Given the description of an element on the screen output the (x, y) to click on. 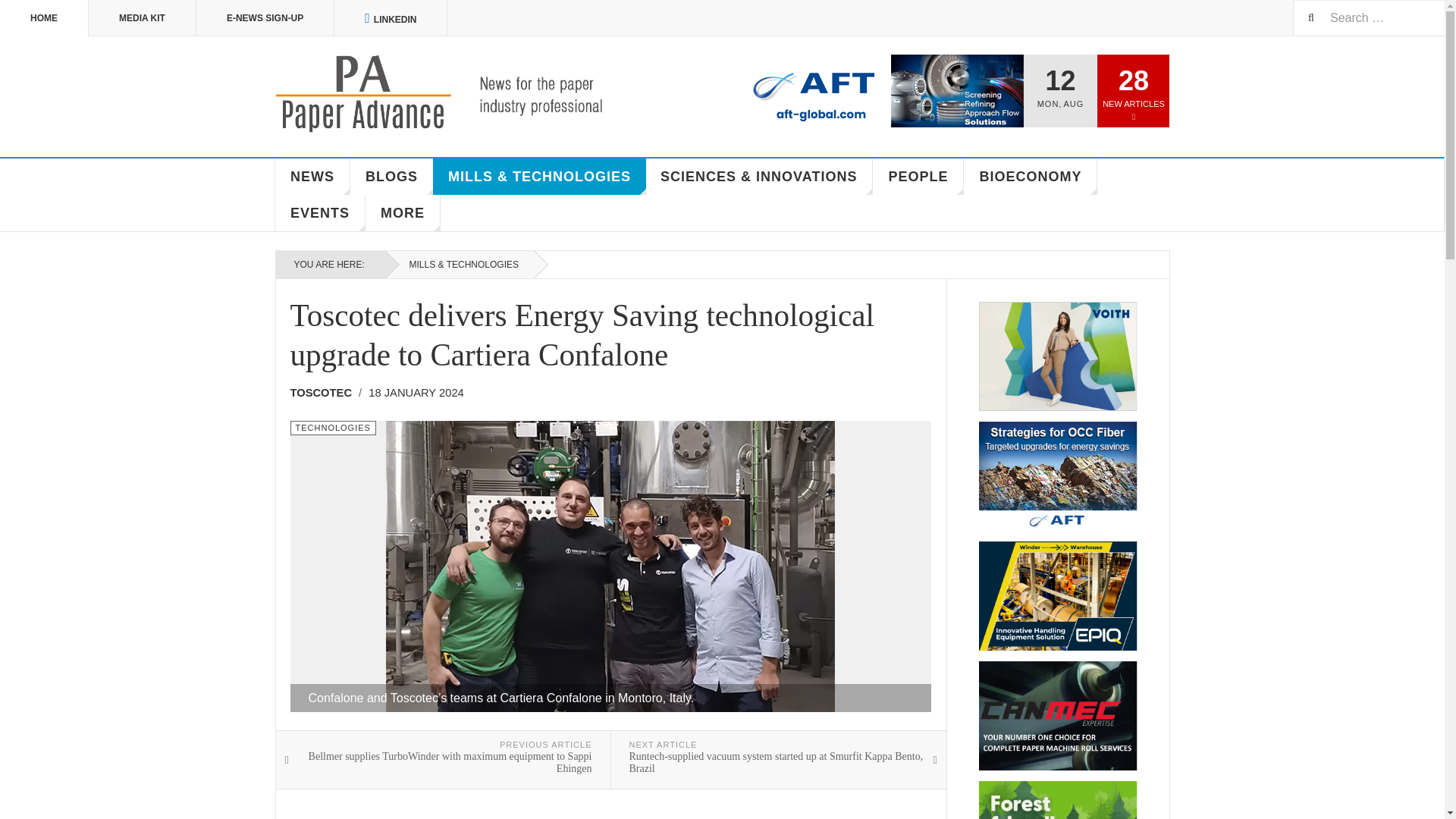
NEWS (312, 176)
E-NEWS SIGN-UP (265, 18)
HOME (44, 18)
MEDIA KIT (142, 18)
LINKEDIN (390, 18)
Paper Advance (461, 93)
